Given the description of an element on the screen output the (x, y) to click on. 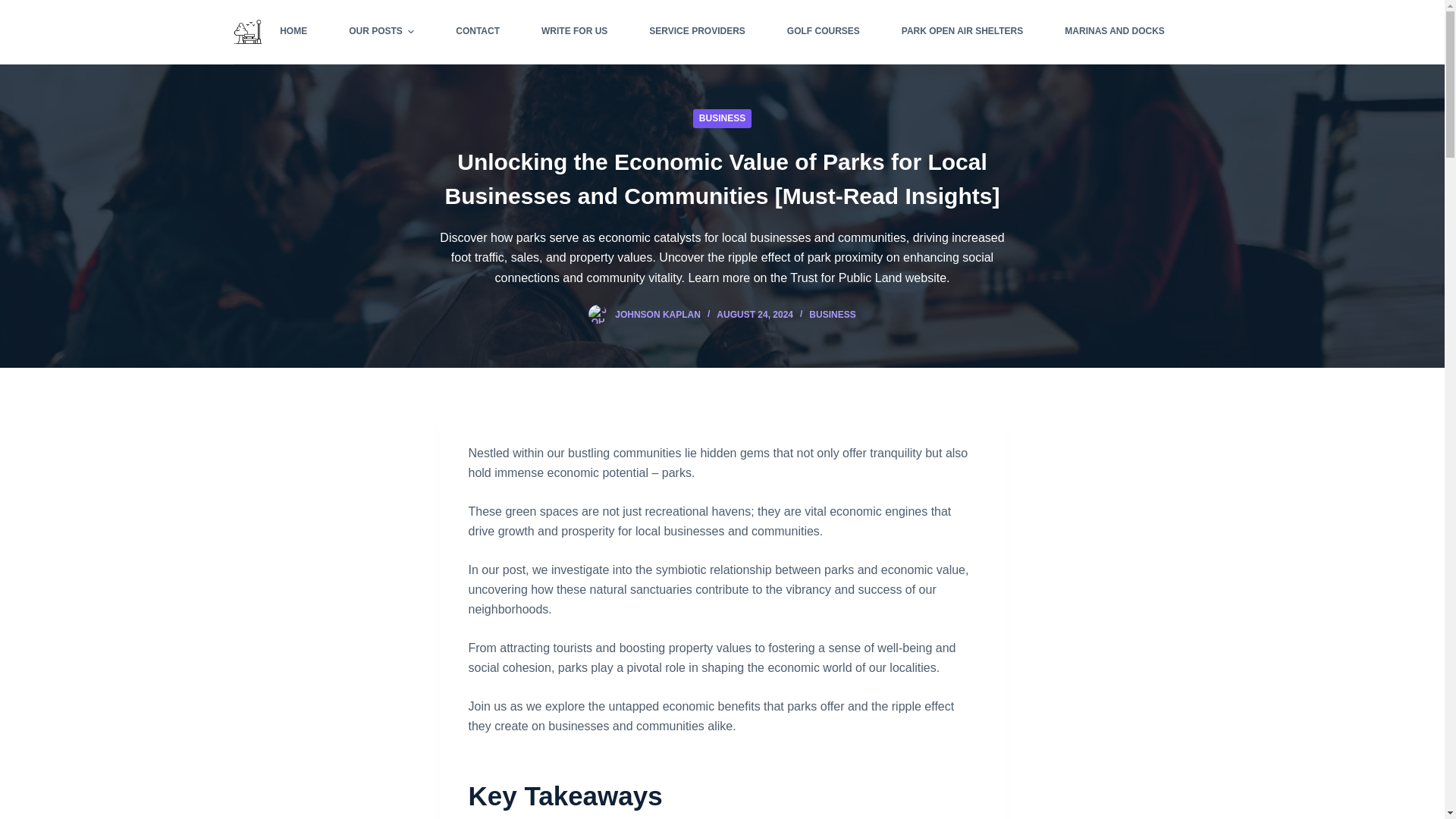
BUSINESS (832, 314)
Skip to content (15, 7)
MARINAS AND DOCKS (1103, 31)
GOLF COURSES (822, 31)
WRITE FOR US (573, 31)
OUR POSTS (382, 31)
BUSINESS (722, 117)
PARK OPEN AIR SHELTERS (961, 31)
Posts by Johnson Kaplan (657, 314)
JOHNSON KAPLAN (657, 314)
